Given the description of an element on the screen output the (x, y) to click on. 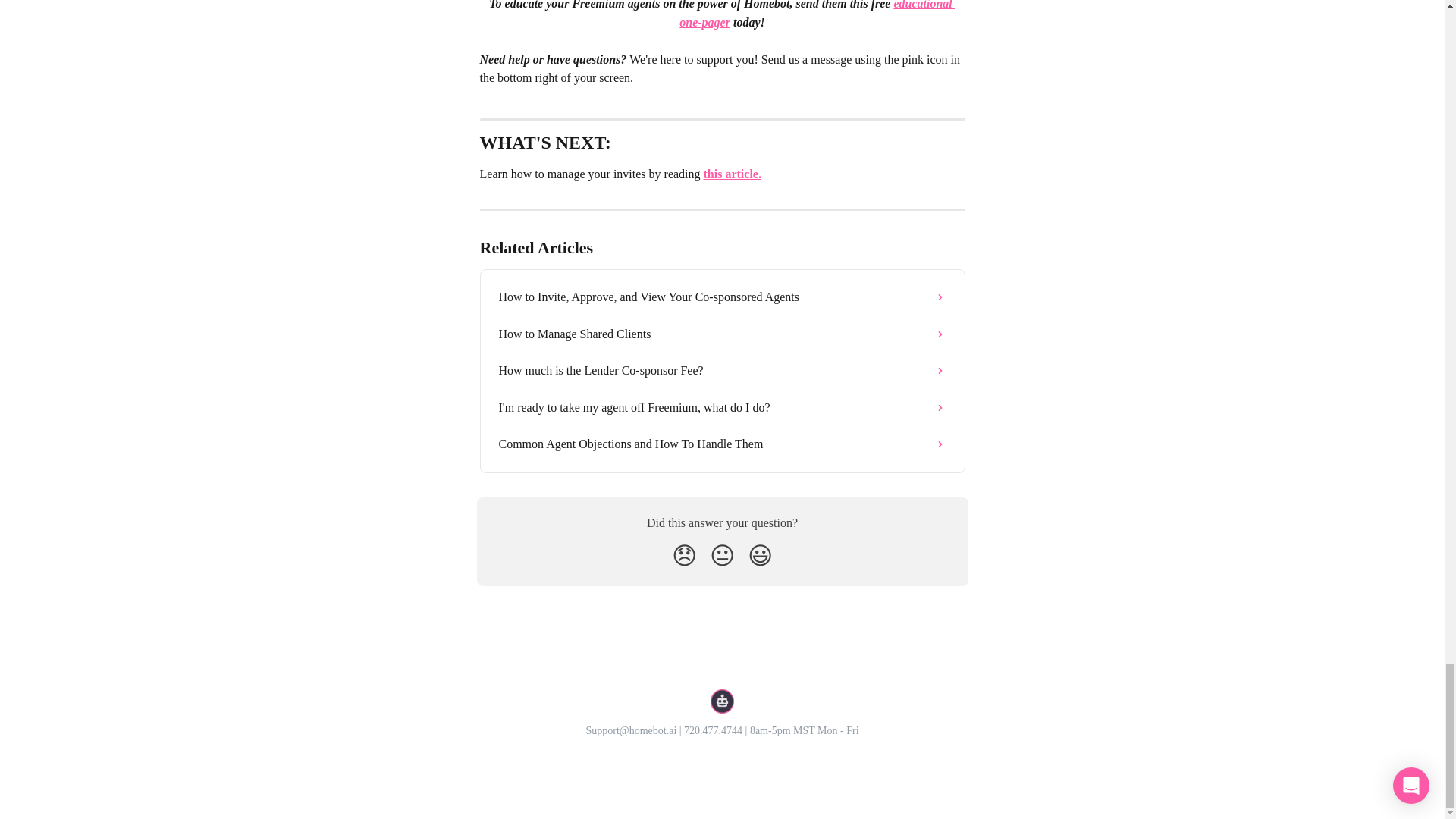
Neutral (722, 555)
Common Agent Objections and How To Handle Them (722, 443)
educational one-pager (817, 13)
this article. (732, 173)
How to Manage Shared Clients (722, 334)
Smiley (760, 555)
I'm ready to take my agent off Freemium, what do I do? (722, 407)
How to Invite, Approve, and View Your Co-sponsored Agents (722, 297)
Disappointed (684, 555)
How much is the Lender Co-sponsor Fee? (722, 370)
